Given the description of an element on the screen output the (x, y) to click on. 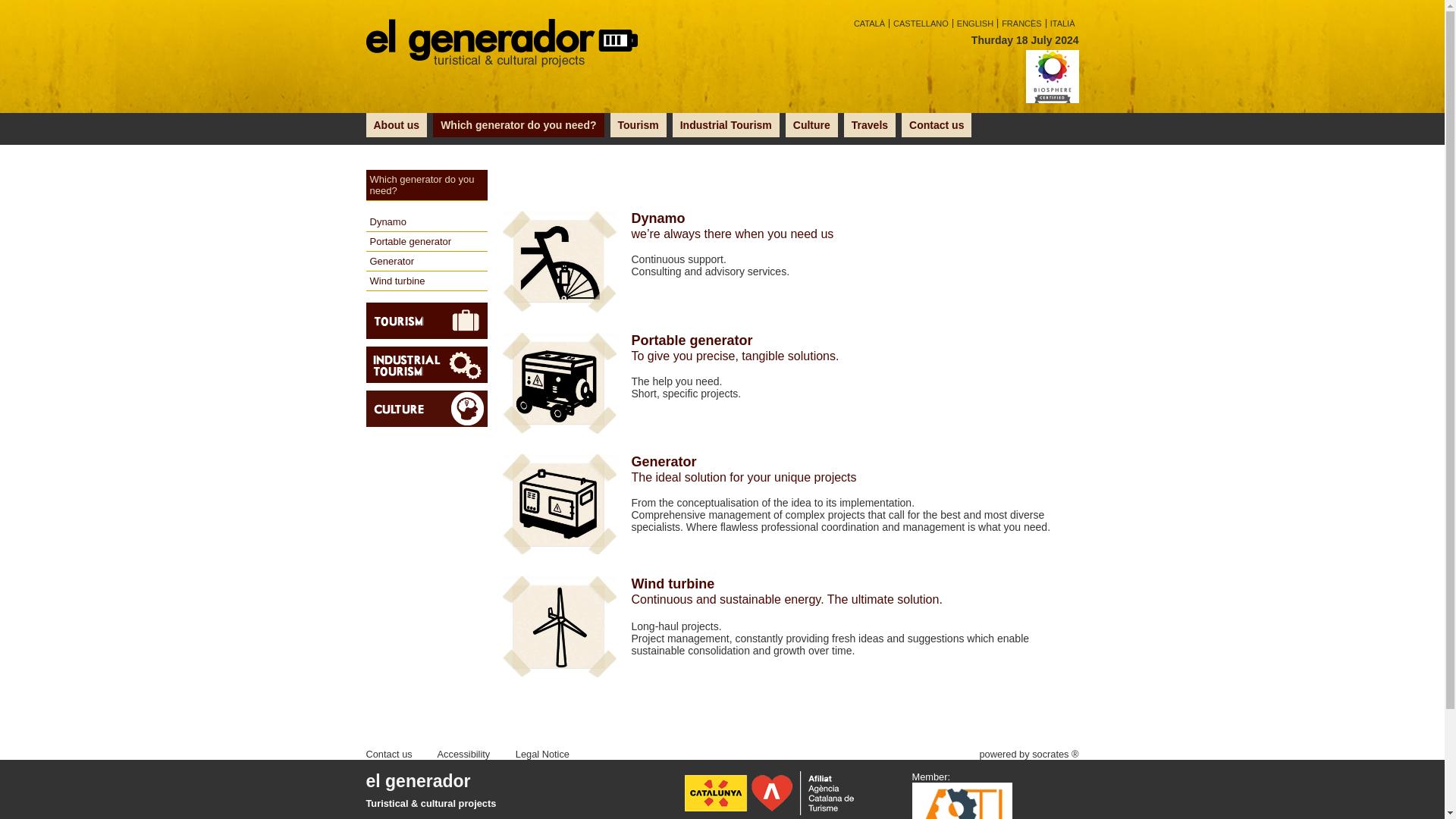
Accessibility (464, 754)
Industrial Tourism (725, 125)
Which generator do you need? (518, 125)
Contact us (936, 125)
Travels (869, 125)
Tourism (638, 125)
Wind turbine (425, 281)
About us (395, 125)
Generator (425, 261)
Portable generator (425, 241)
Which generator do you need? (425, 184)
Generator (790, 462)
el Generador (501, 43)
